Given the description of an element on the screen output the (x, y) to click on. 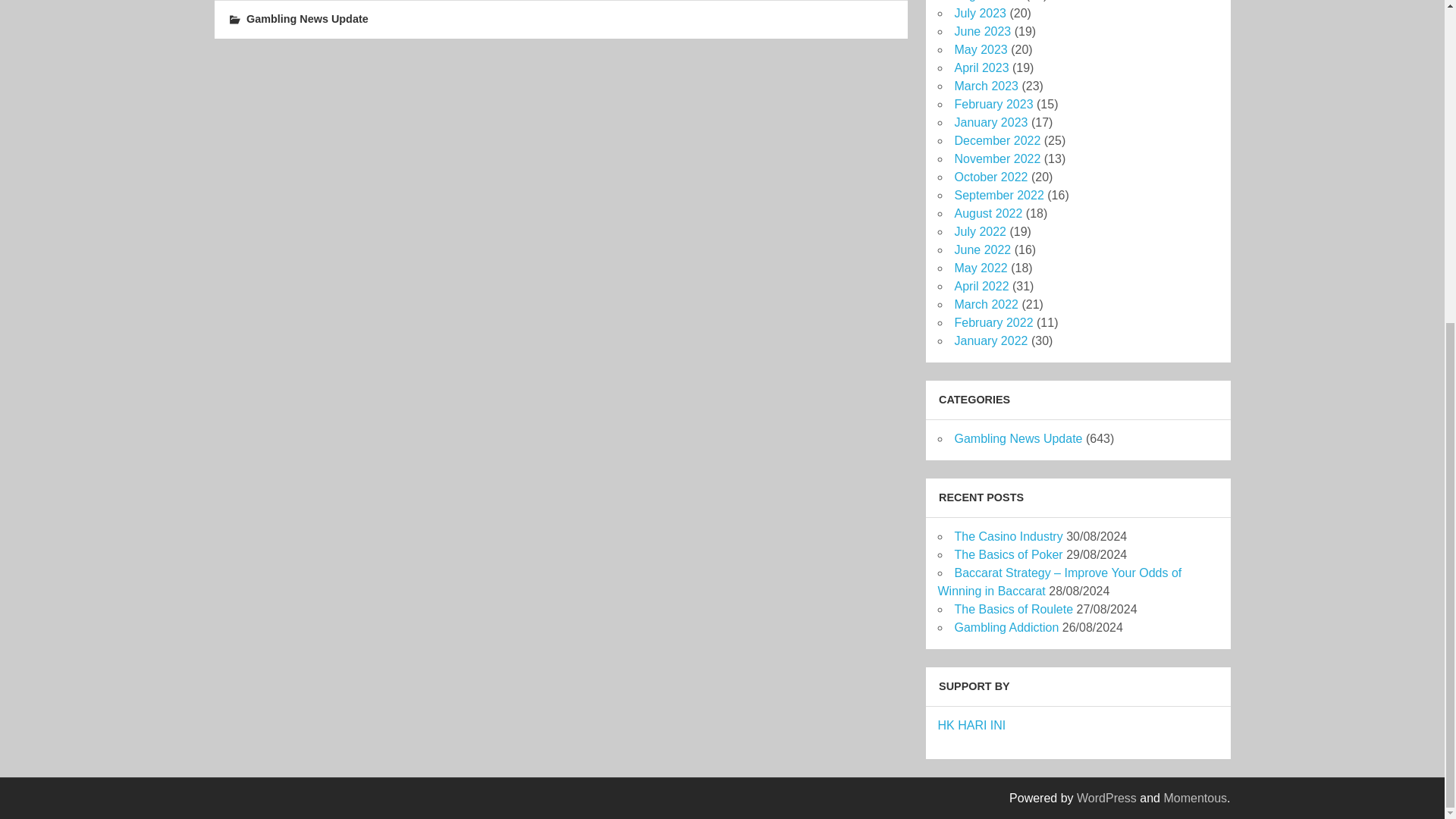
WordPress (1107, 797)
April 2023 (981, 67)
March 2022 (985, 304)
April 2022 (981, 286)
Gambling News Update (307, 19)
October 2022 (990, 176)
June 2022 (981, 249)
December 2022 (997, 140)
August 2023 (987, 0)
May 2022 (980, 267)
